Given the description of an element on the screen output the (x, y) to click on. 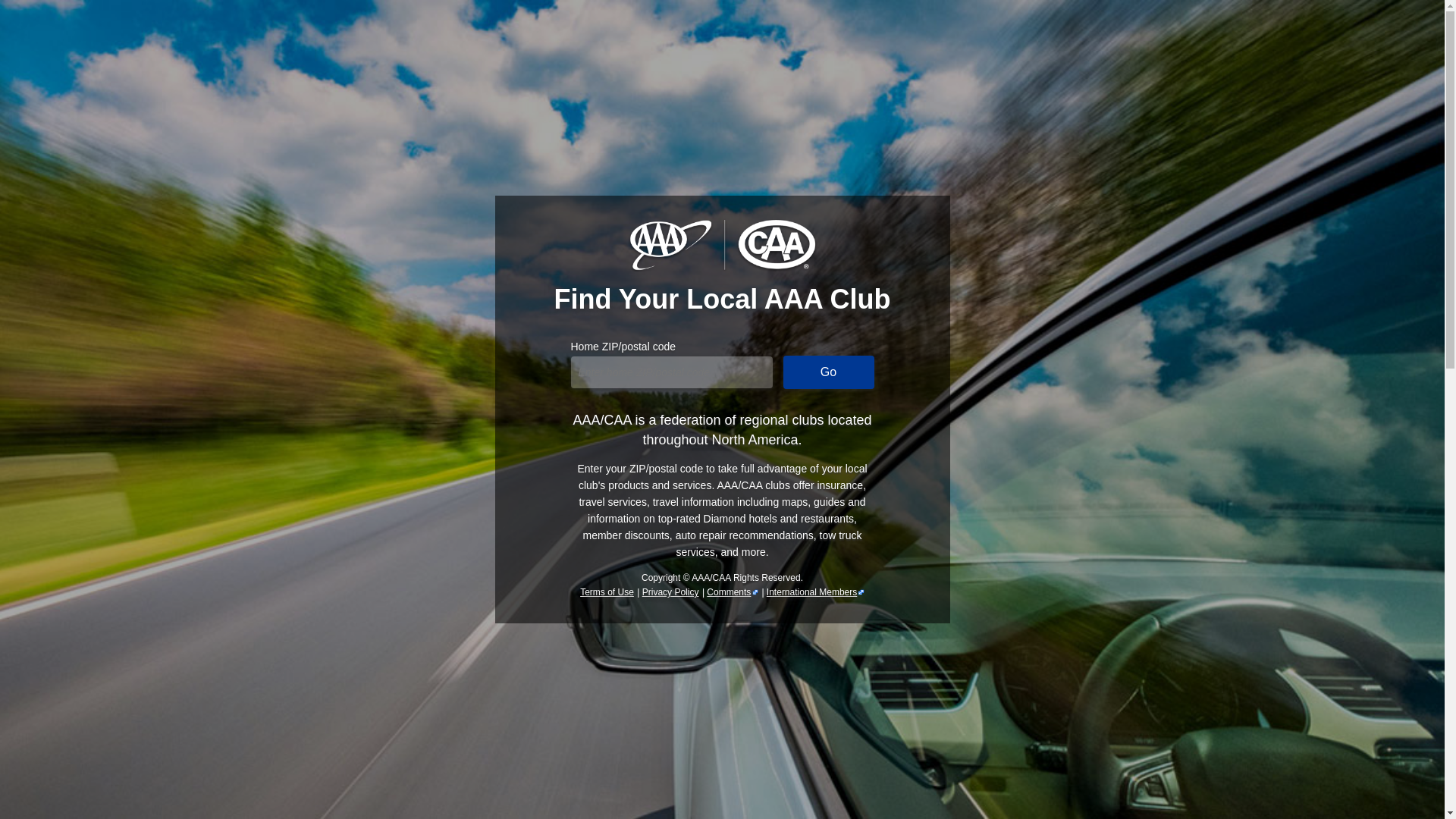
Terms of Use (606, 592)
Skip to main content (67, 20)
Go (828, 372)
Comments (732, 592)
International Members (815, 592)
Privacy Policy (670, 592)
